Given the description of an element on the screen output the (x, y) to click on. 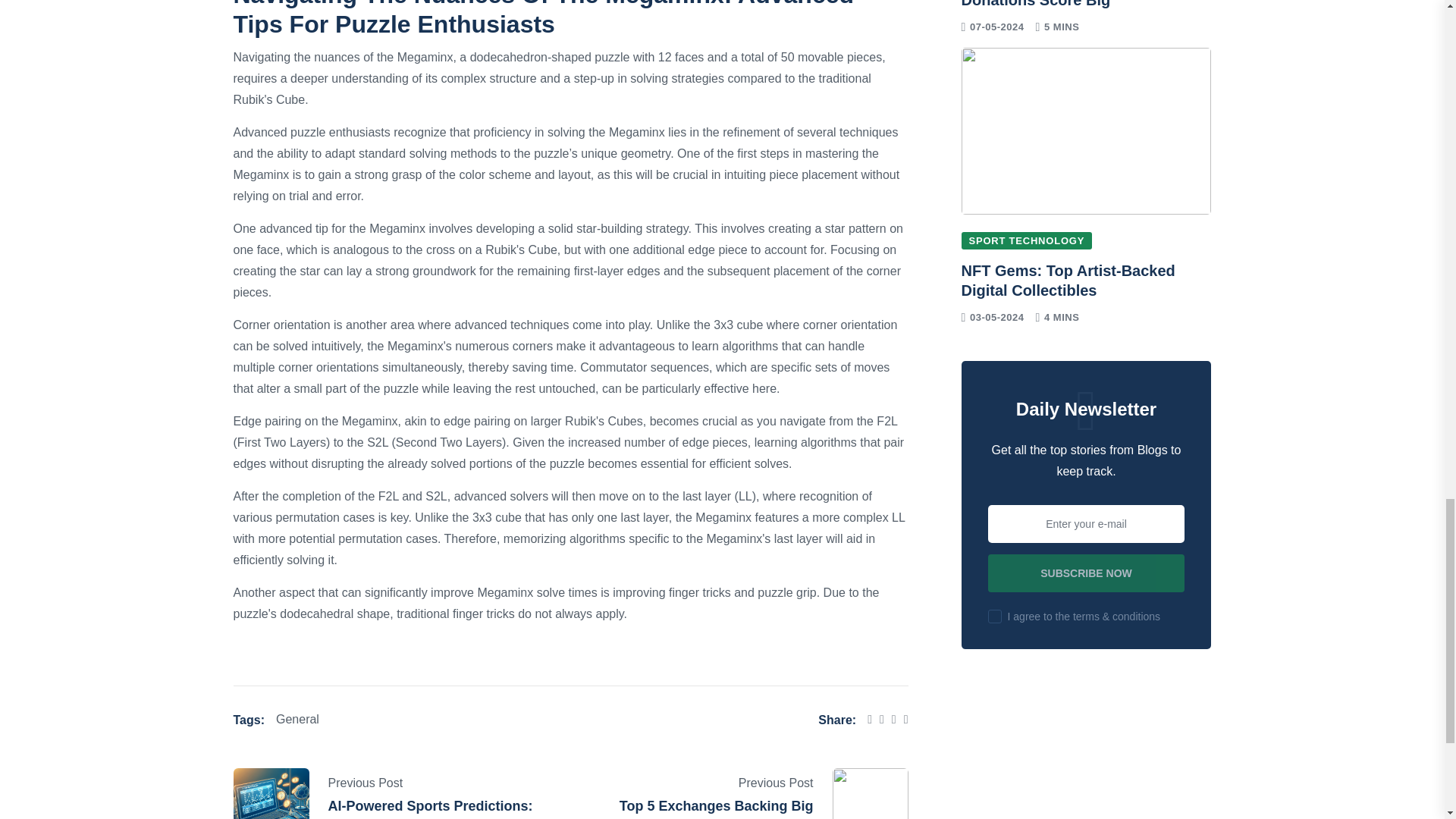
AI-Powered Sports Predictions: The Crypto Game-Changer" (429, 808)
on (994, 616)
Top 5 Exchanges Backing Big Sports Ventures" (716, 808)
